Given the description of an element on the screen output the (x, y) to click on. 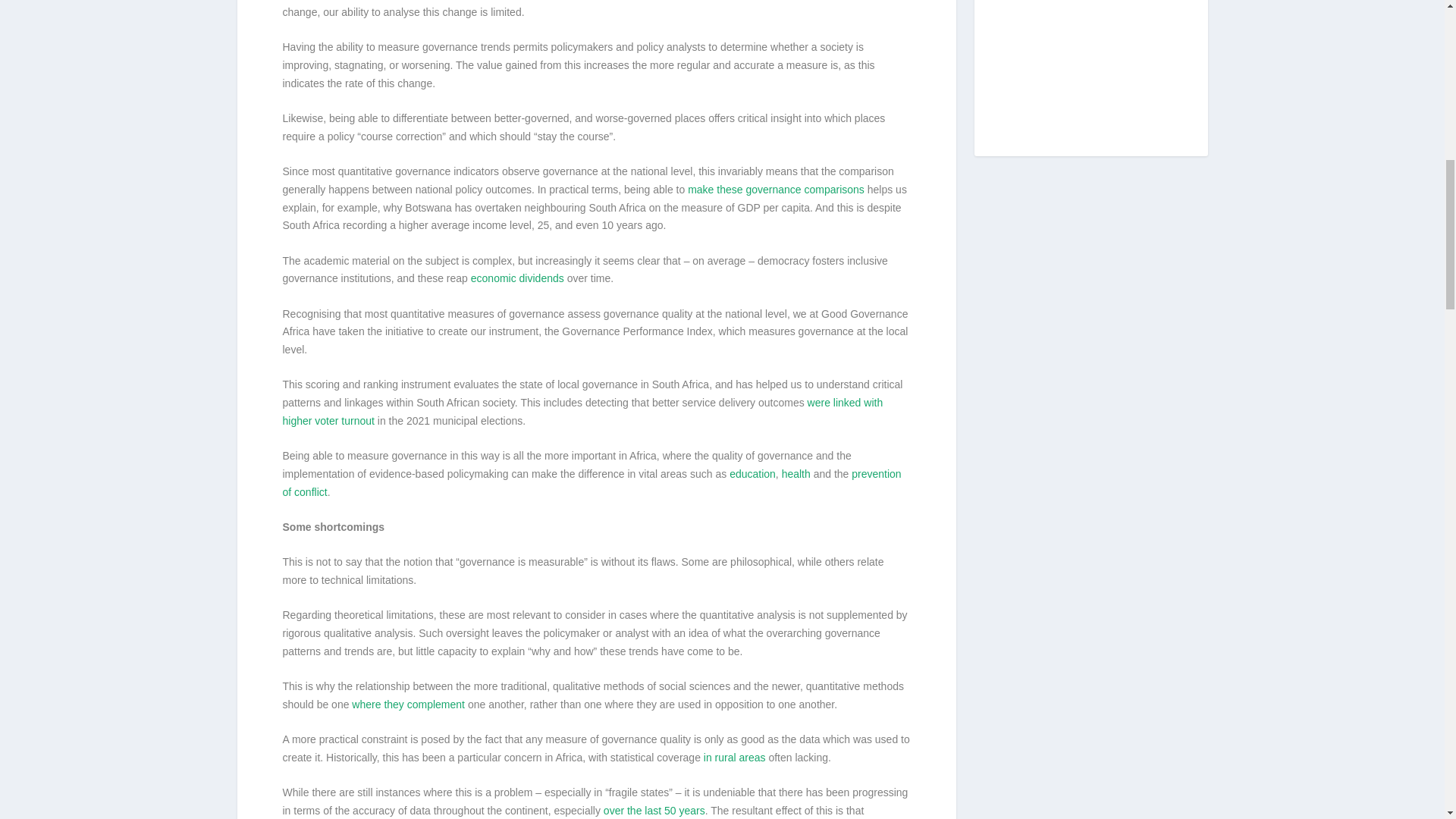
make these governance comparisons (775, 189)
over the last 50 years (654, 810)
education (752, 473)
health (795, 473)
where they complement (408, 704)
were linked with higher voter turnout (582, 411)
economic dividends (517, 277)
prevention of conflict (591, 482)
in rural areas (734, 757)
